Given the description of an element on the screen output the (x, y) to click on. 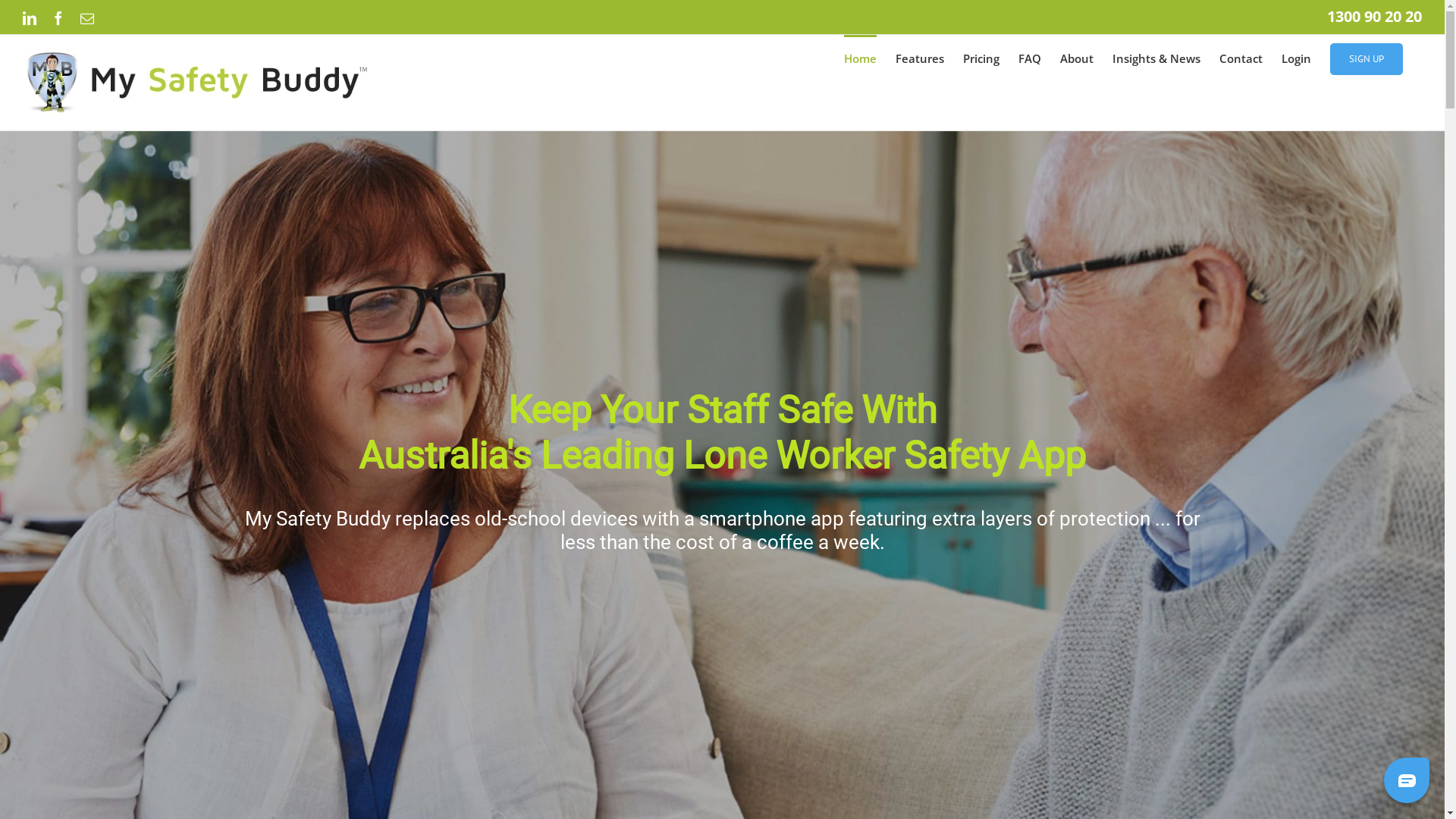
Features Element type: text (919, 57)
SIGN UP Element type: text (1366, 57)
Contact Element type: text (1240, 57)
1300 90 20 20 Element type: text (1374, 16)
Chat Element type: hover (1406, 778)
FAQ Element type: text (1029, 57)
Facebook Element type: text (58, 17)
Login Element type: text (1296, 57)
Insights & News Element type: text (1156, 57)
LinkedIn Element type: text (29, 17)
About Element type: text (1076, 57)
Pricing Element type: text (981, 57)
Email Element type: text (87, 17)
Home Element type: text (860, 57)
